Given the description of an element on the screen output the (x, y) to click on. 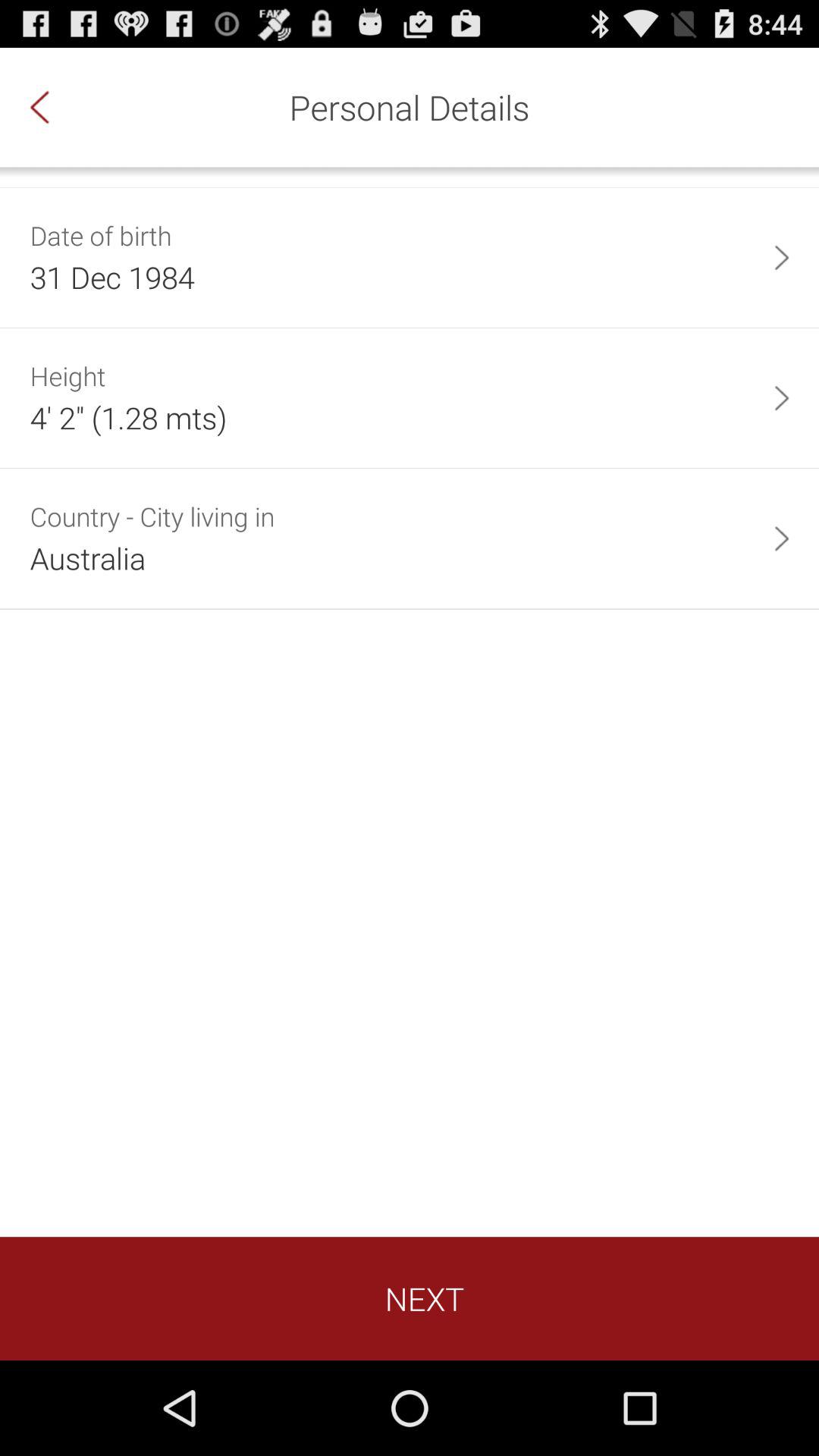
turn off item next to 4 2 1 app (781, 397)
